Given the description of an element on the screen output the (x, y) to click on. 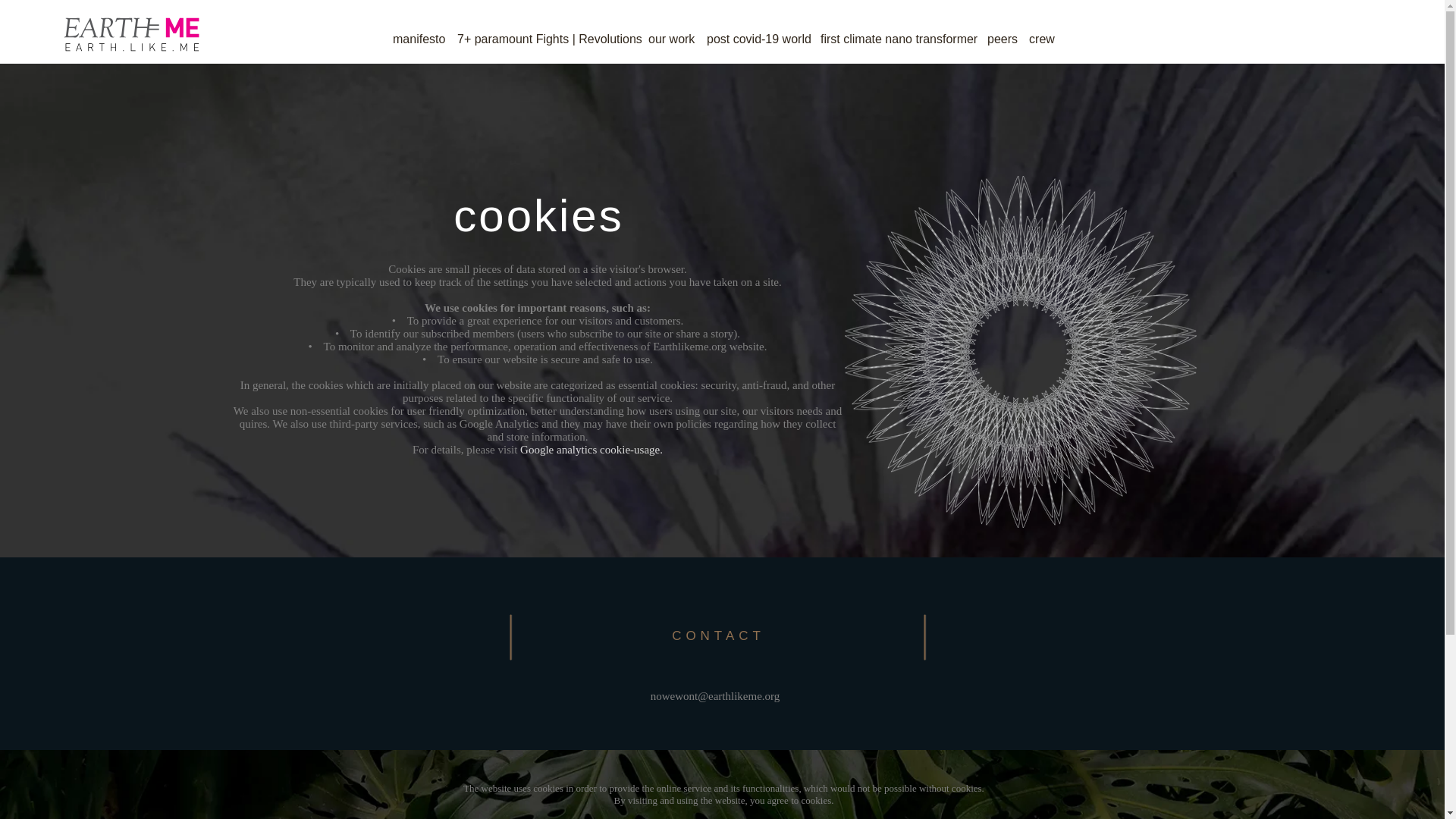
peers (1002, 32)
our work (671, 32)
first climate nano transformer (897, 32)
post covid-19 world (756, 32)
crew (1042, 32)
manifesto (419, 32)
Google analytics cookie-usage. (590, 449)
